Given the description of an element on the screen output the (x, y) to click on. 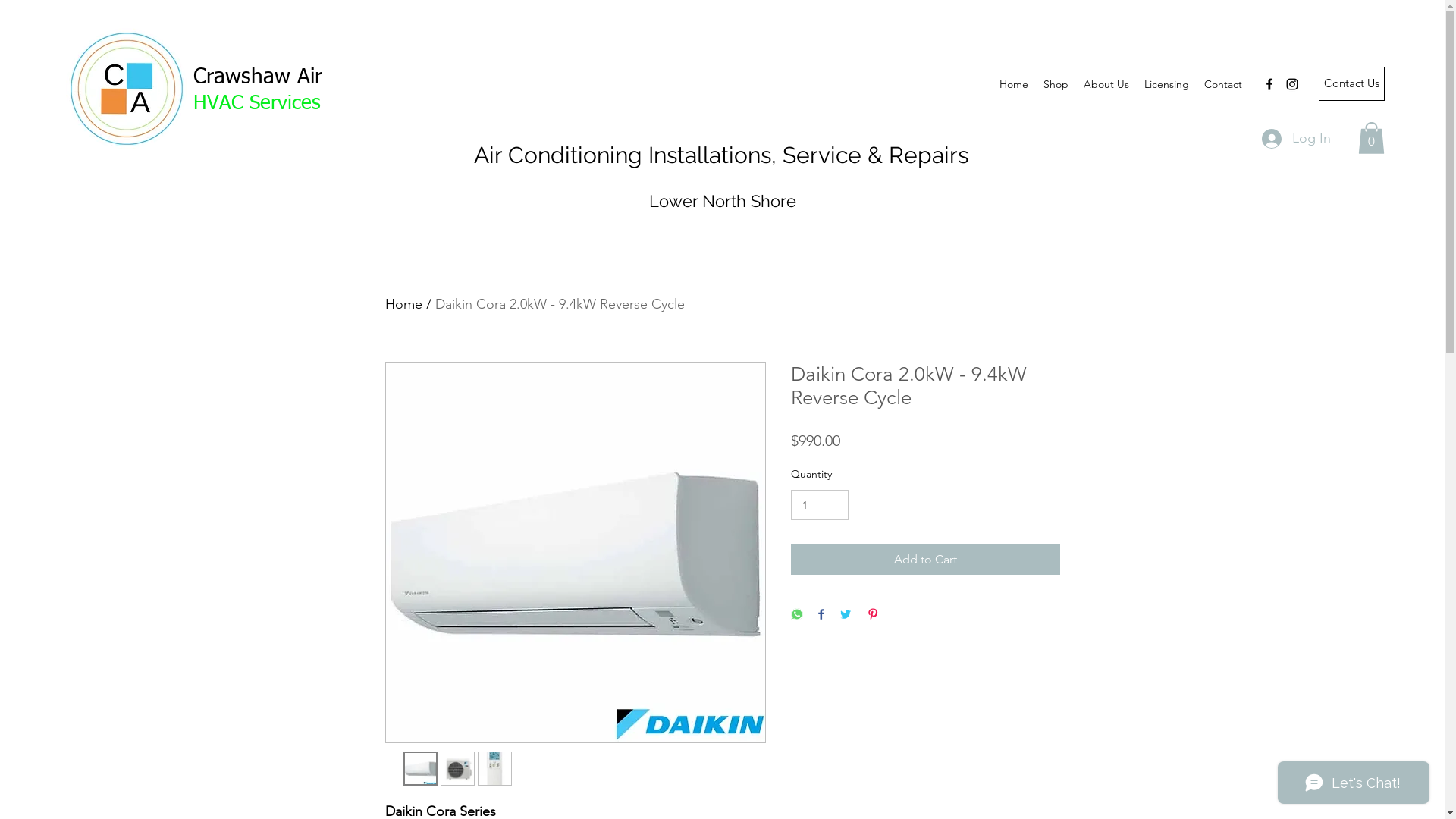
Contact Us Element type: text (1351, 83)
Add to Cart Element type: text (924, 559)
Shop Element type: text (1055, 83)
Log In Element type: text (1296, 138)
0 Element type: text (1371, 137)
Daikin Cora 2.0kW - 9.4kW Reverse Cycle Element type: text (559, 303)
Home Element type: text (403, 303)
Licensing Element type: text (1166, 83)
Contact Element type: text (1222, 83)
About Us Element type: text (1106, 83)
Home Element type: text (1013, 83)
